Given the description of an element on the screen output the (x, y) to click on. 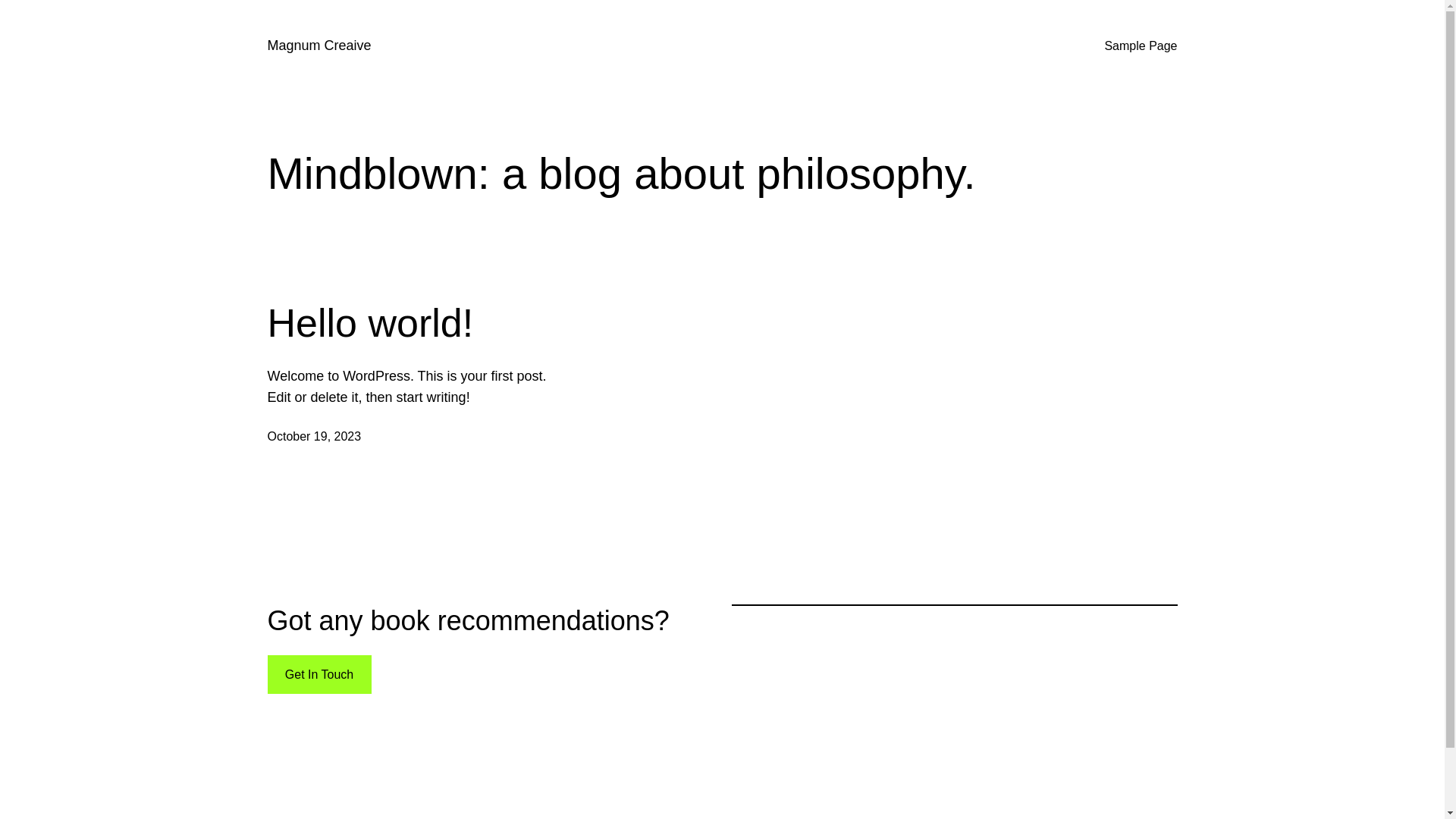
Hello world! Element type: text (369, 322)
Sample Page Element type: text (1140, 46)
October 19, 2023 Element type: text (313, 435)
Magnum Creaive Element type: text (318, 45)
Get In Touch Element type: text (318, 674)
